Given the description of an element on the screen output the (x, y) to click on. 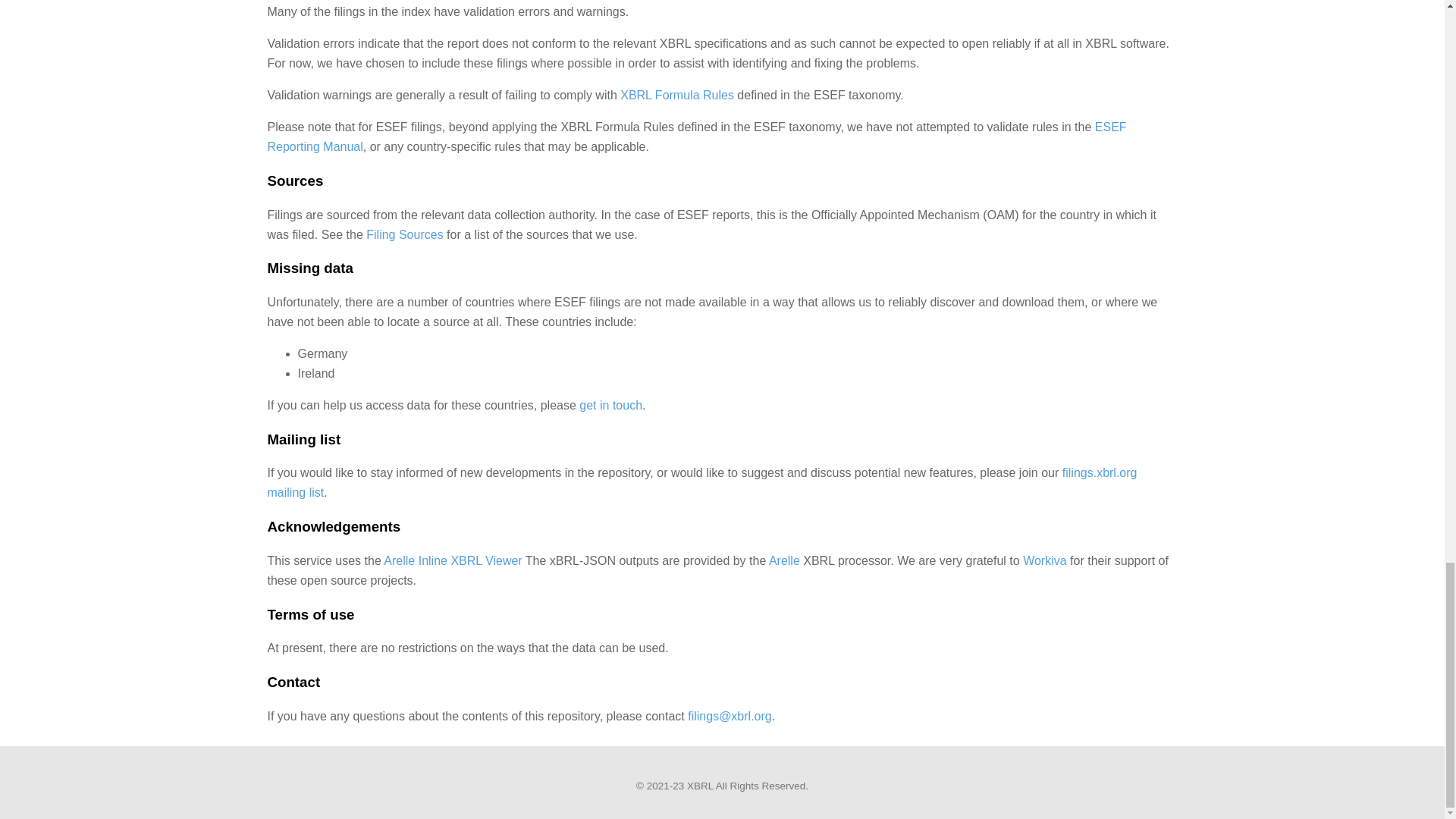
Arelle Inline XBRL Viewer (452, 560)
filings.xbrl.org mailing list (701, 482)
Workiva (1045, 560)
XBRL Formula Rules (676, 94)
ESEF Reporting Manual (695, 136)
Arelle (783, 560)
get in touch (610, 404)
Filing Sources (404, 233)
